Given the description of an element on the screen output the (x, y) to click on. 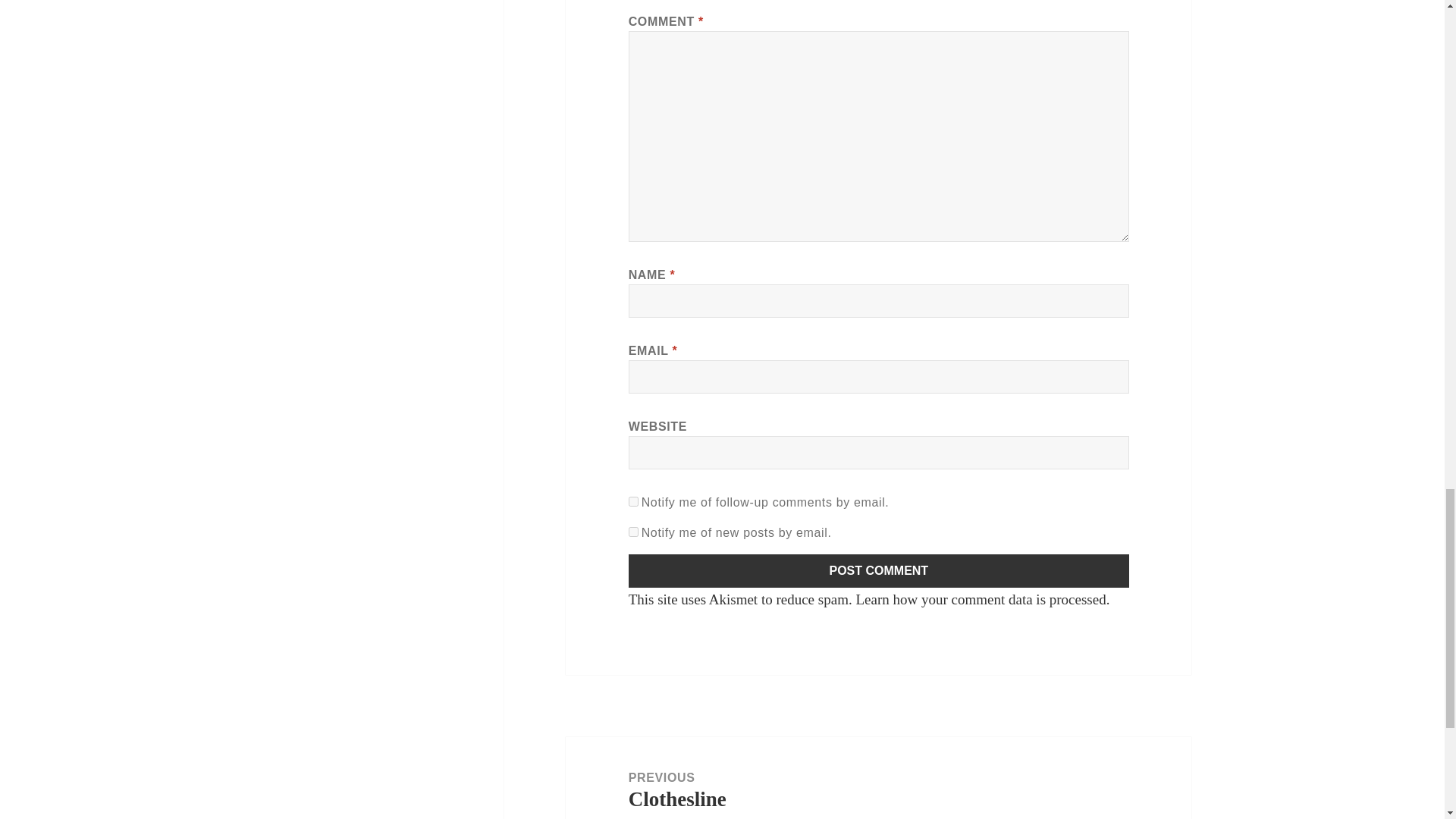
Post Comment (878, 571)
subscribe (633, 501)
Post Comment (878, 571)
Learn how your comment data is processed (980, 599)
subscribe (633, 532)
